Given the description of an element on the screen output the (x, y) to click on. 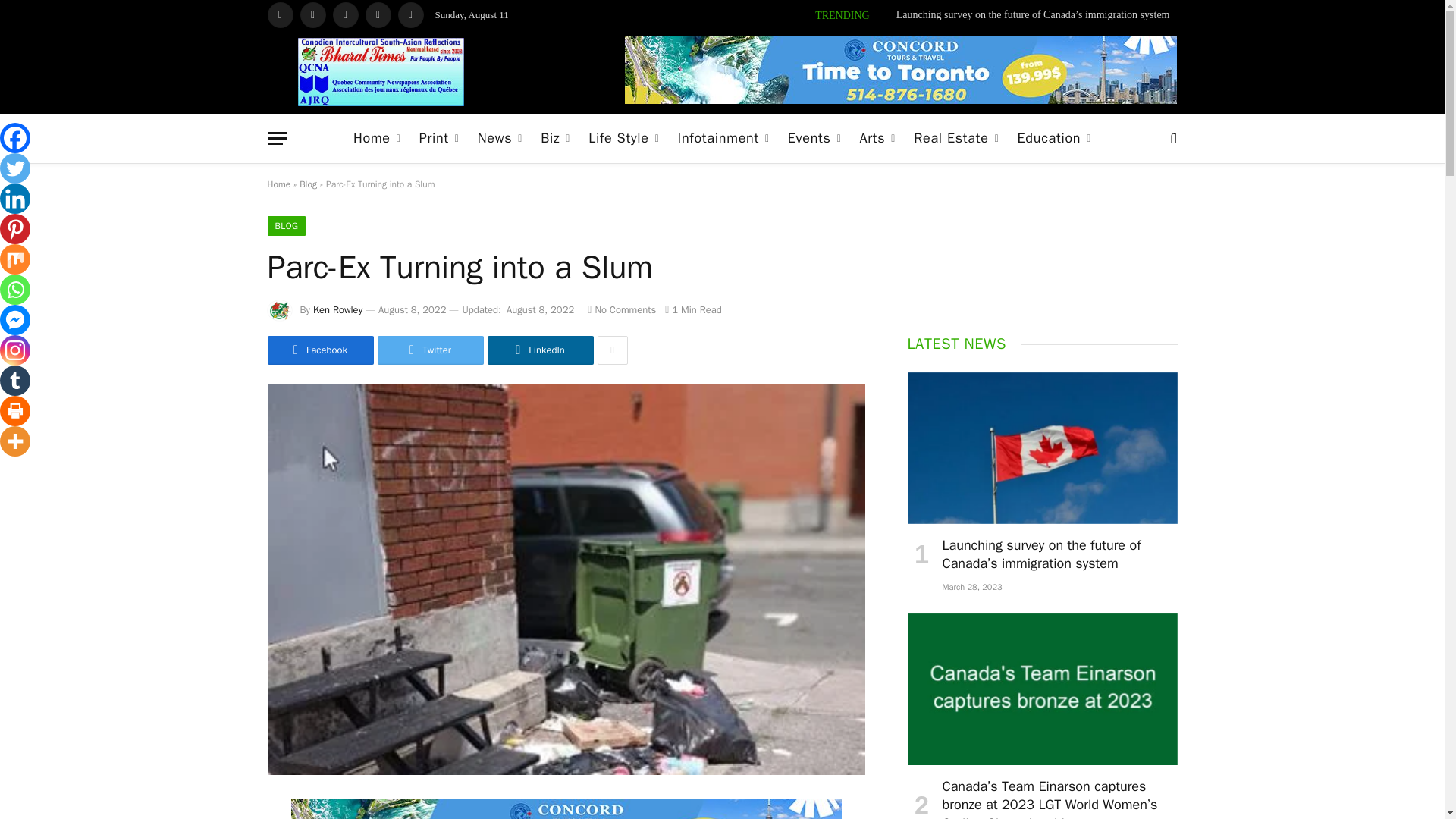
Twitter (312, 14)
YouTube (378, 14)
RSS (410, 14)
Facebook (279, 14)
business (555, 137)
Home (376, 137)
Instagram (344, 14)
Bharat Times (380, 71)
